Given the description of an element on the screen output the (x, y) to click on. 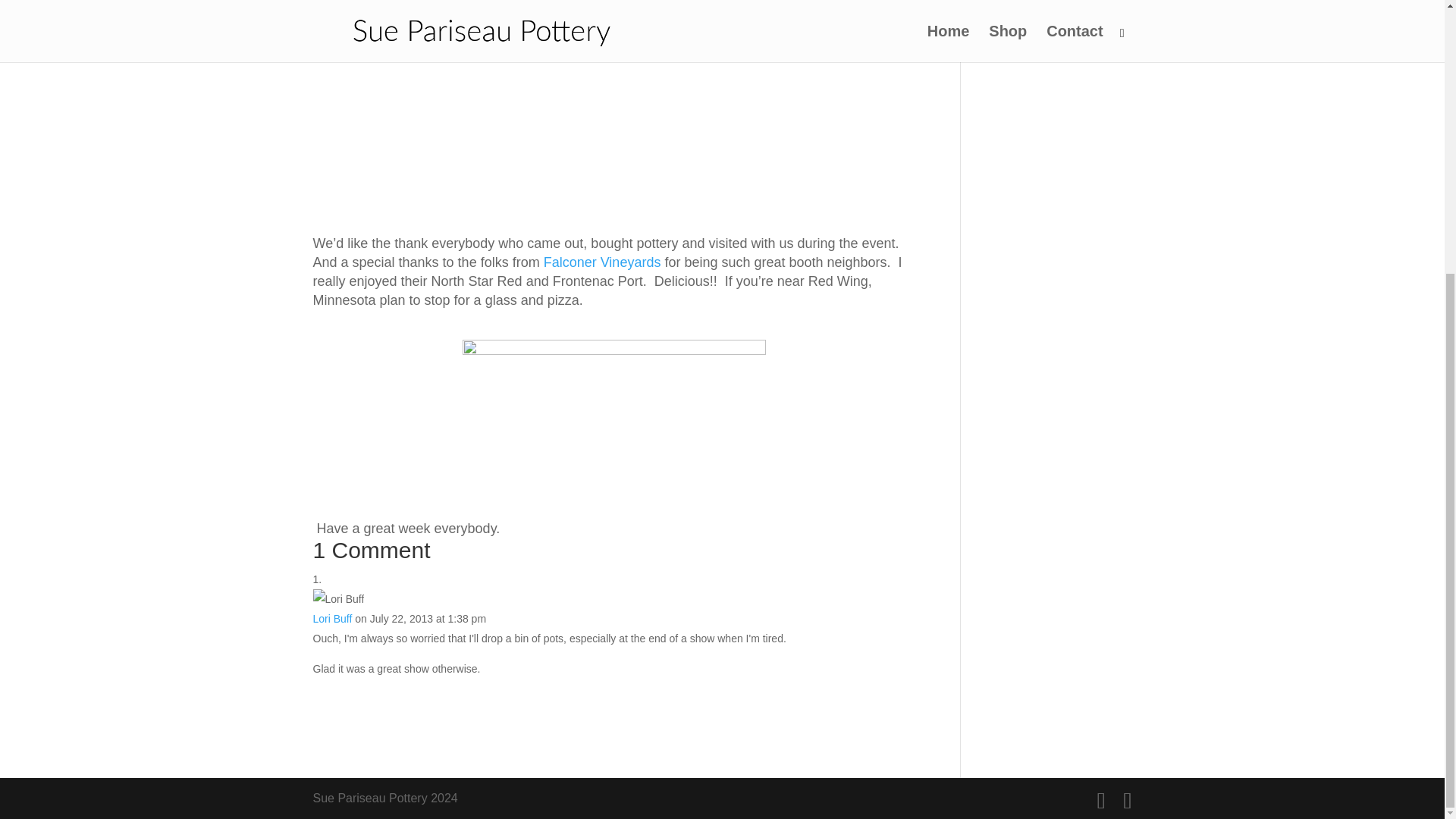
Lori Buff (332, 618)
Falconer Vineyards (602, 262)
